Given the description of an element on the screen output the (x, y) to click on. 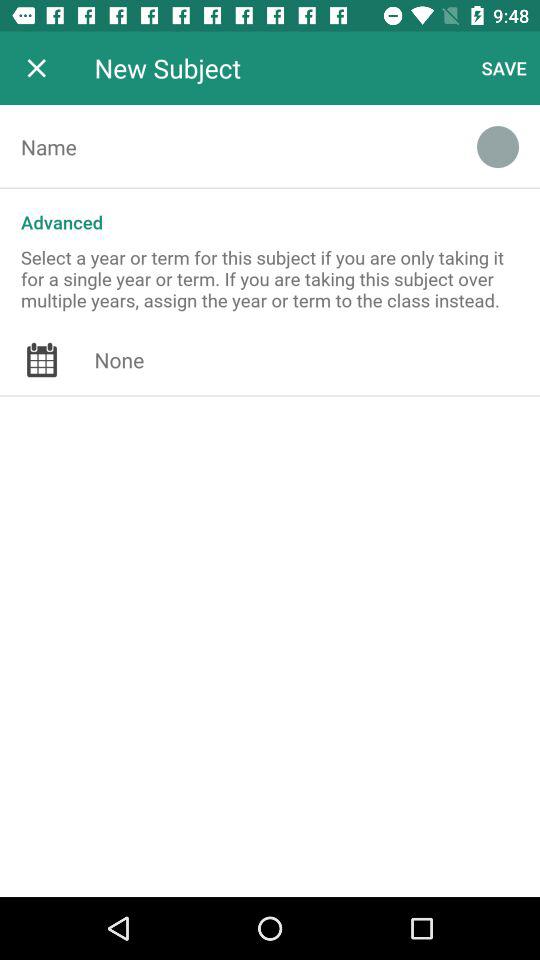
enter term name (228, 147)
